Given the description of an element on the screen output the (x, y) to click on. 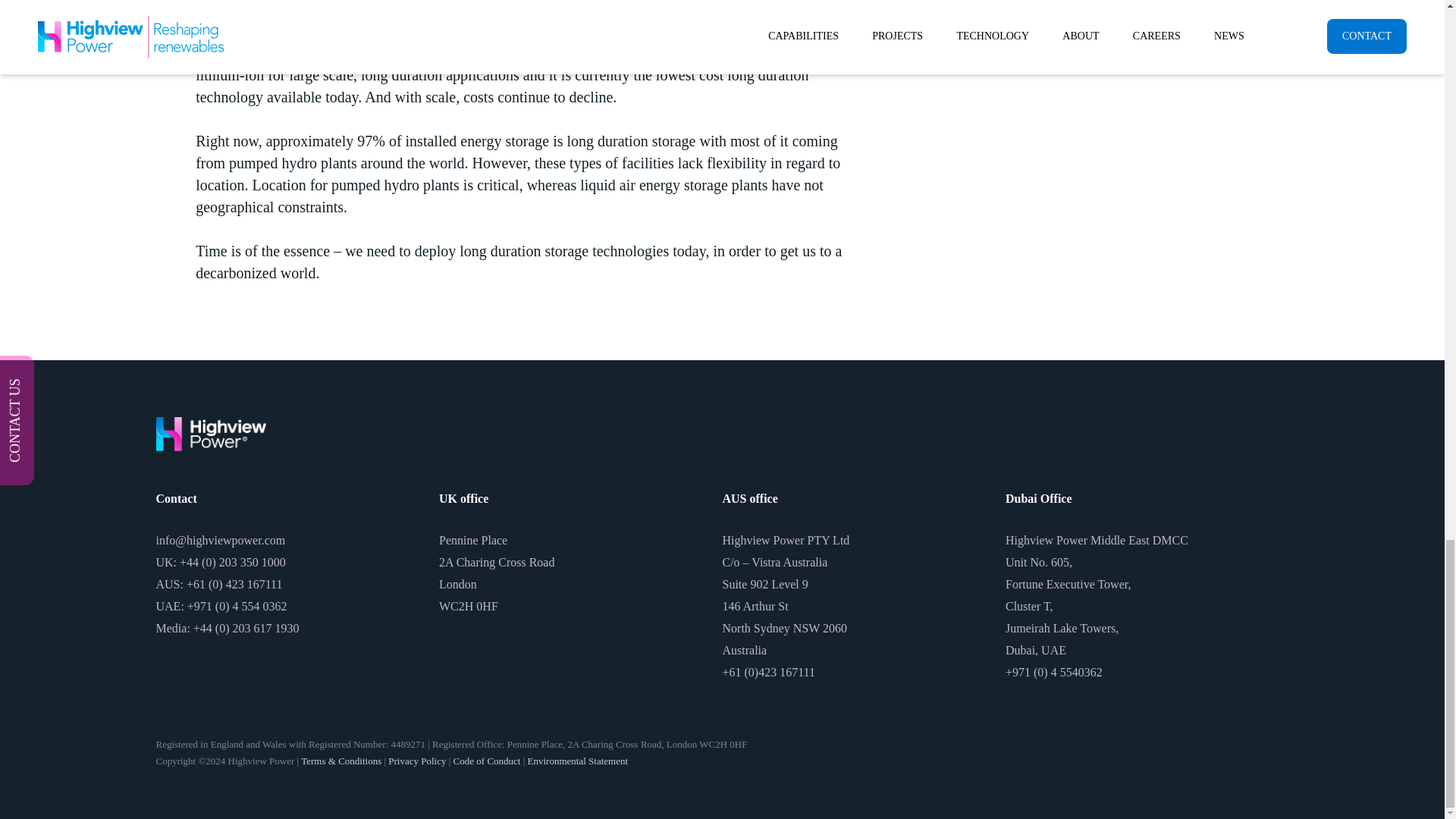
Code of Conduct (486, 760)
Environmental Statement (577, 760)
Privacy Policy (416, 760)
